Given the description of an element on the screen output the (x, y) to click on. 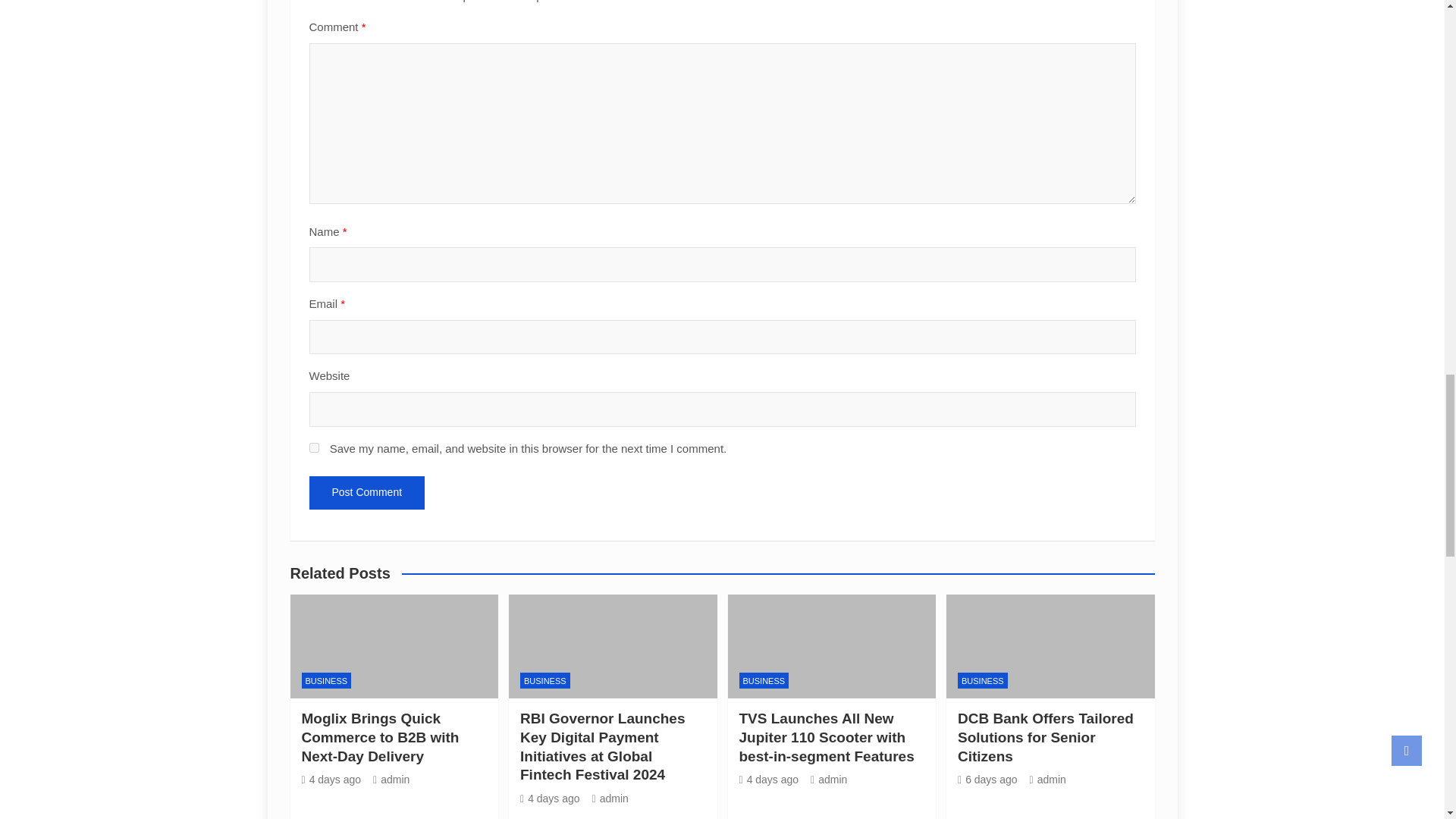
DCB Bank Offers Tailored Solutions for Senior Citizens (987, 779)
Moglix Brings Quick Commerce to B2B with Next-Day Delivery (331, 779)
yes (313, 447)
Post Comment (366, 492)
